Given the description of an element on the screen output the (x, y) to click on. 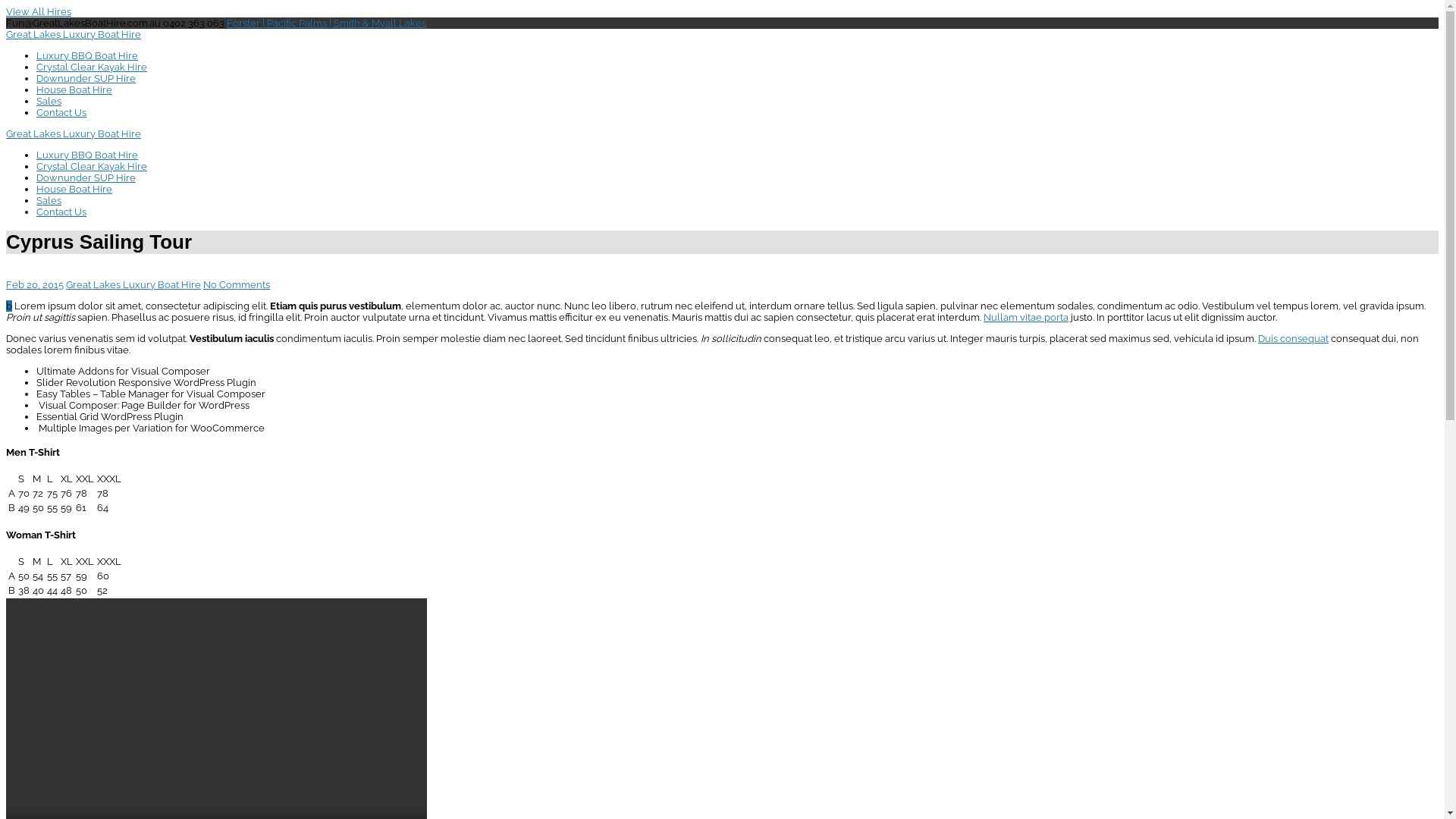
Duis consequat Element type: text (1293, 338)
Downunder SUP Hire Element type: text (85, 78)
No Comments Element type: text (236, 284)
Sales Element type: text (48, 200)
Great Lakes Luxury Boat Hire Element type: text (73, 133)
Crystal Clear Kayak Hire Element type: text (91, 166)
House Boat Hire Element type: text (74, 89)
Great Lakes Luxury Boat Hire Element type: text (73, 34)
Great Lakes Luxury Boat Hire Element type: text (132, 284)
Luxury BBQ Boat Hire Element type: text (87, 55)
House Boat Hire Element type: text (74, 188)
Crystal Clear Kayak Hire Element type: text (91, 66)
Downunder SUP Hire Element type: text (85, 177)
Luxury BBQ Boat Hire Element type: text (87, 154)
Nullam vitae porta Element type: text (1025, 317)
Forster | Pacific Palms | Smith & Myall Lakes Element type: text (326, 22)
Feb 20, 2015 Element type: text (34, 284)
Sales Element type: text (48, 100)
Contact Us Element type: text (61, 211)
Contact Us Element type: text (61, 112)
View All Hires Element type: text (38, 11)
